Given the description of an element on the screen output the (x, y) to click on. 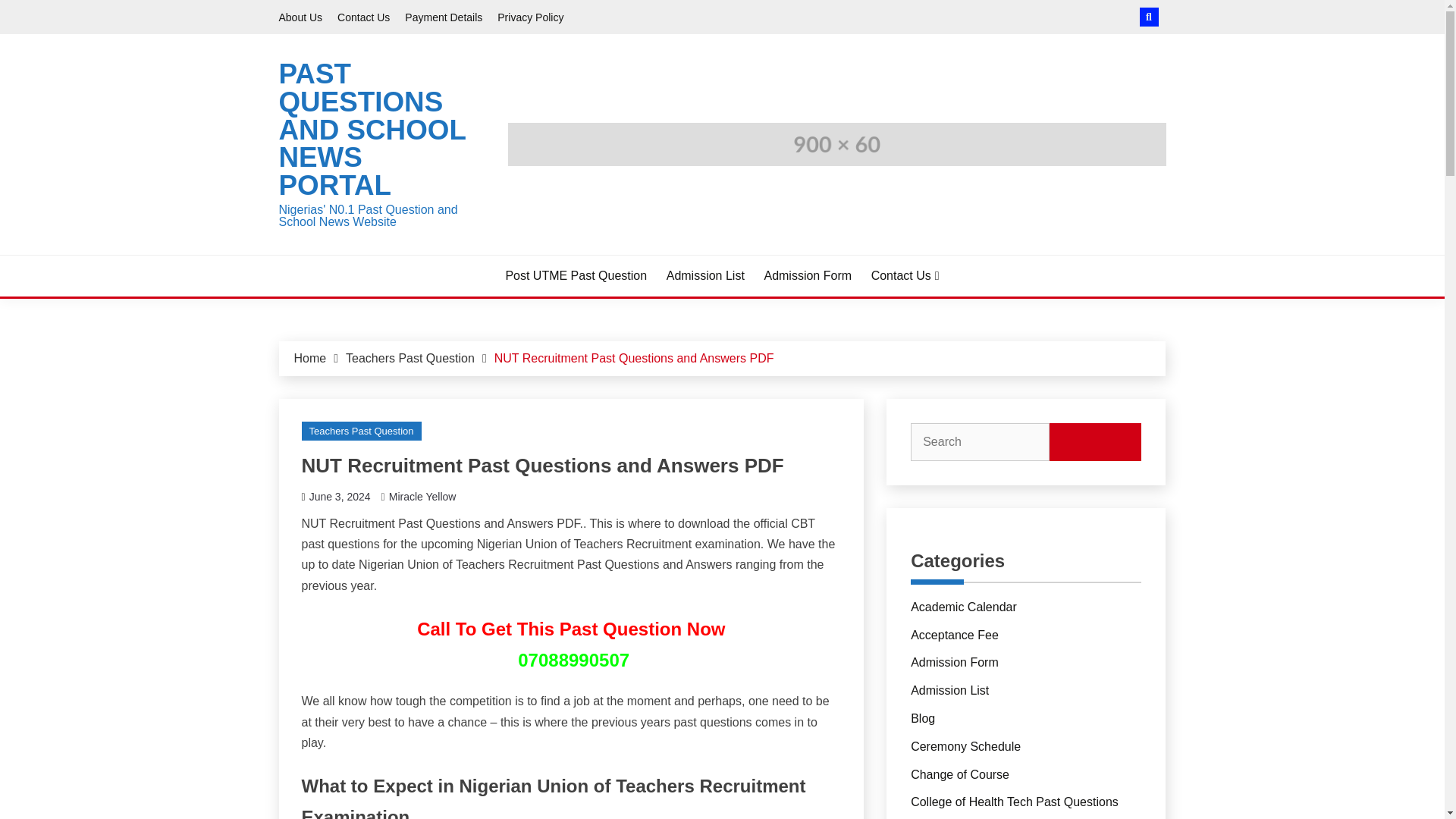
Payment Details (442, 16)
Miracle Yellow (422, 496)
Contact Us (363, 16)
Post UTME Past Question (575, 275)
Home (310, 358)
Teachers Past Question (410, 358)
June 3, 2024 (339, 496)
Privacy Policy (530, 16)
Teachers Past Question (361, 431)
NUT Recruitment Past Questions and Answers PDF (634, 358)
